Given the description of an element on the screen output the (x, y) to click on. 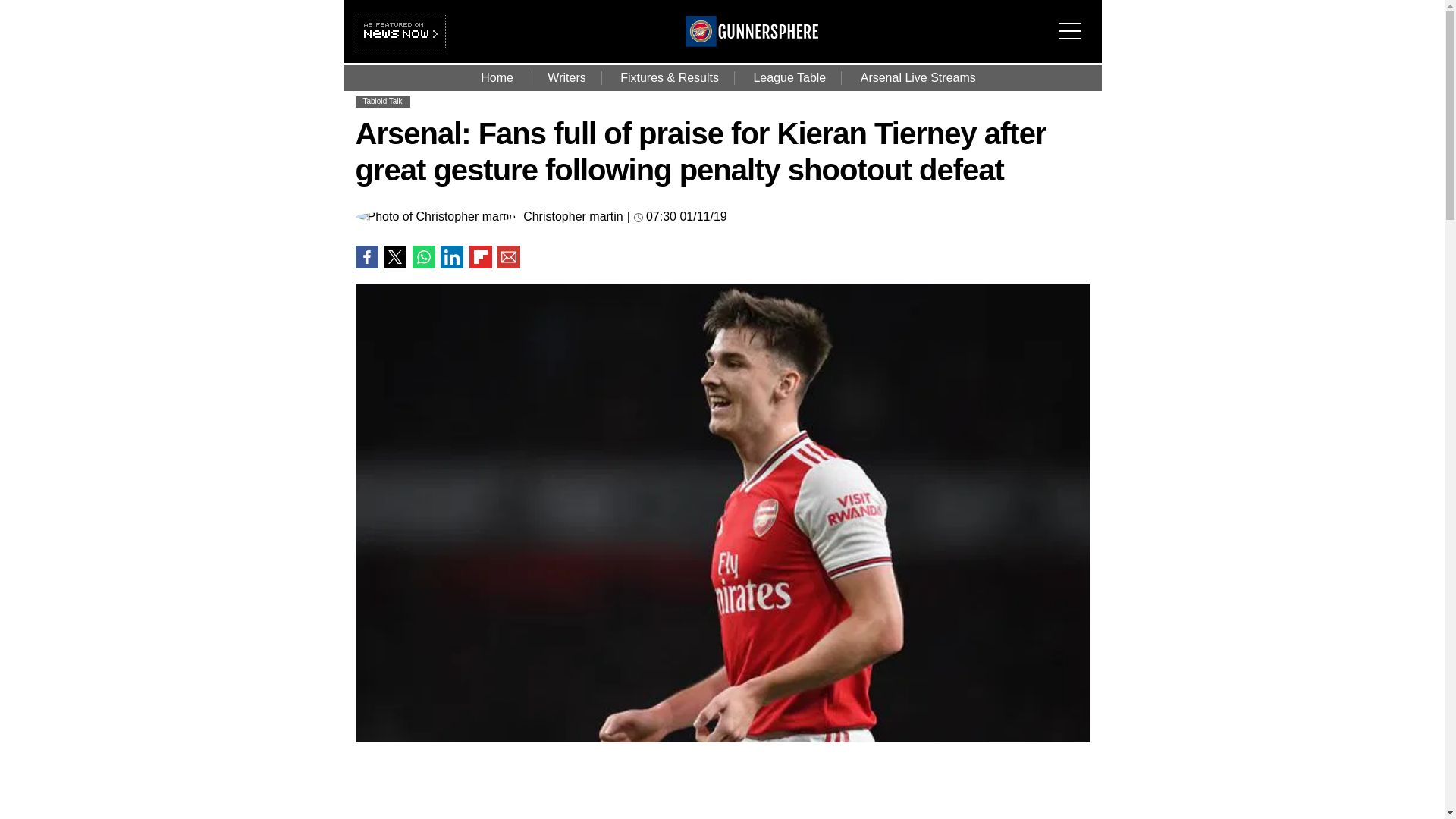
Christopher martin (572, 216)
Back to the homepage (751, 42)
Tabloid Talk (381, 101)
Home (496, 78)
share on Flipboard (480, 256)
Writers (565, 78)
share on WhatsApp (423, 256)
share on Facebook (366, 256)
share on Email (508, 256)
share on Twitter (395, 256)
